Given the description of an element on the screen output the (x, y) to click on. 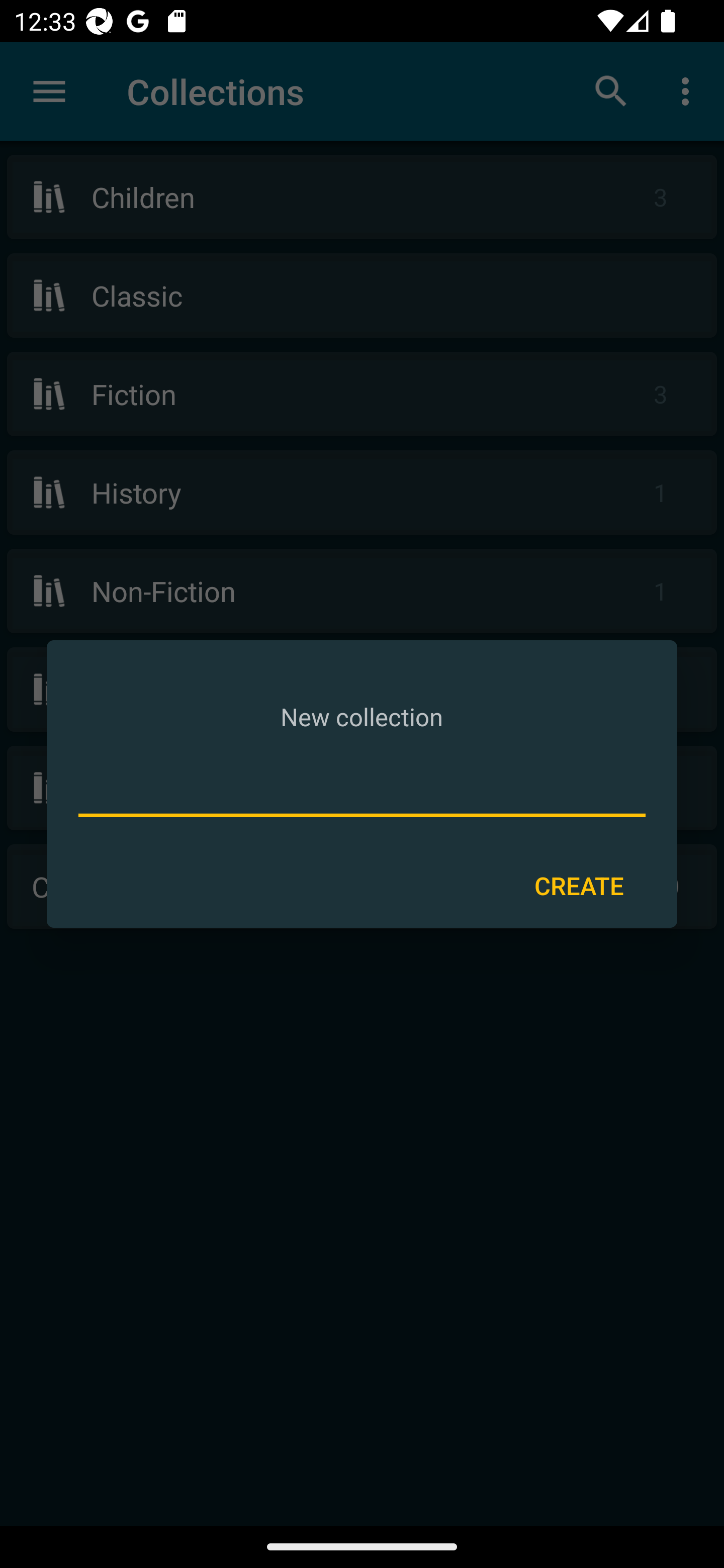
CREATE (578, 885)
